Given the description of an element on the screen output the (x, y) to click on. 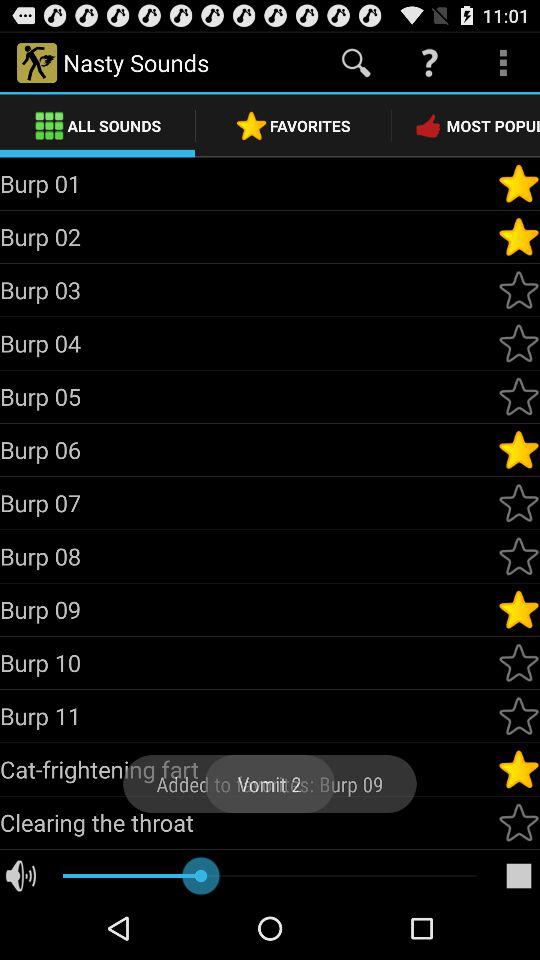
favorite sounds (519, 663)
